Given the description of an element on the screen output the (x, y) to click on. 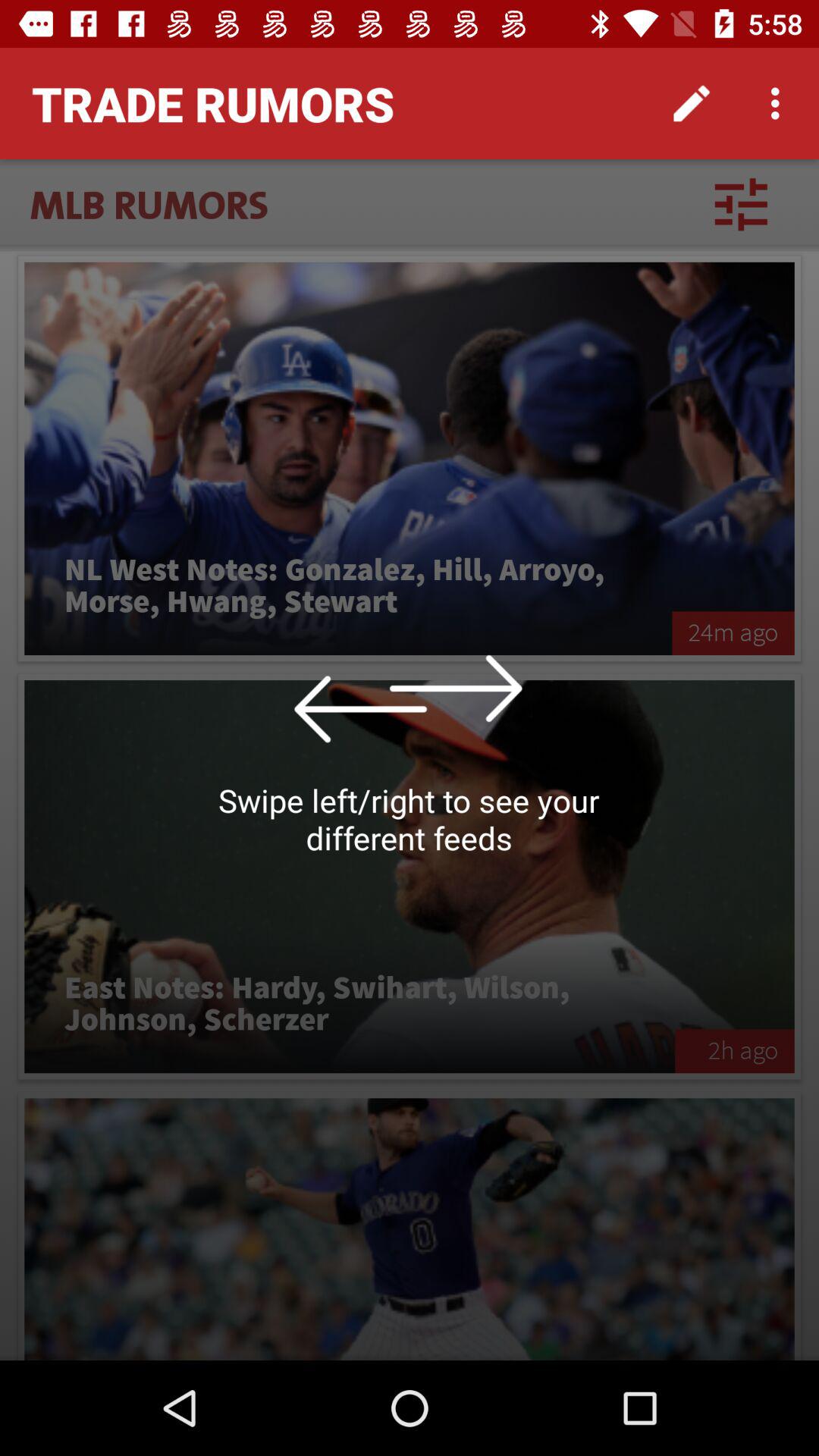
scroll until the 2h ago (734, 1051)
